Given the description of an element on the screen output the (x, y) to click on. 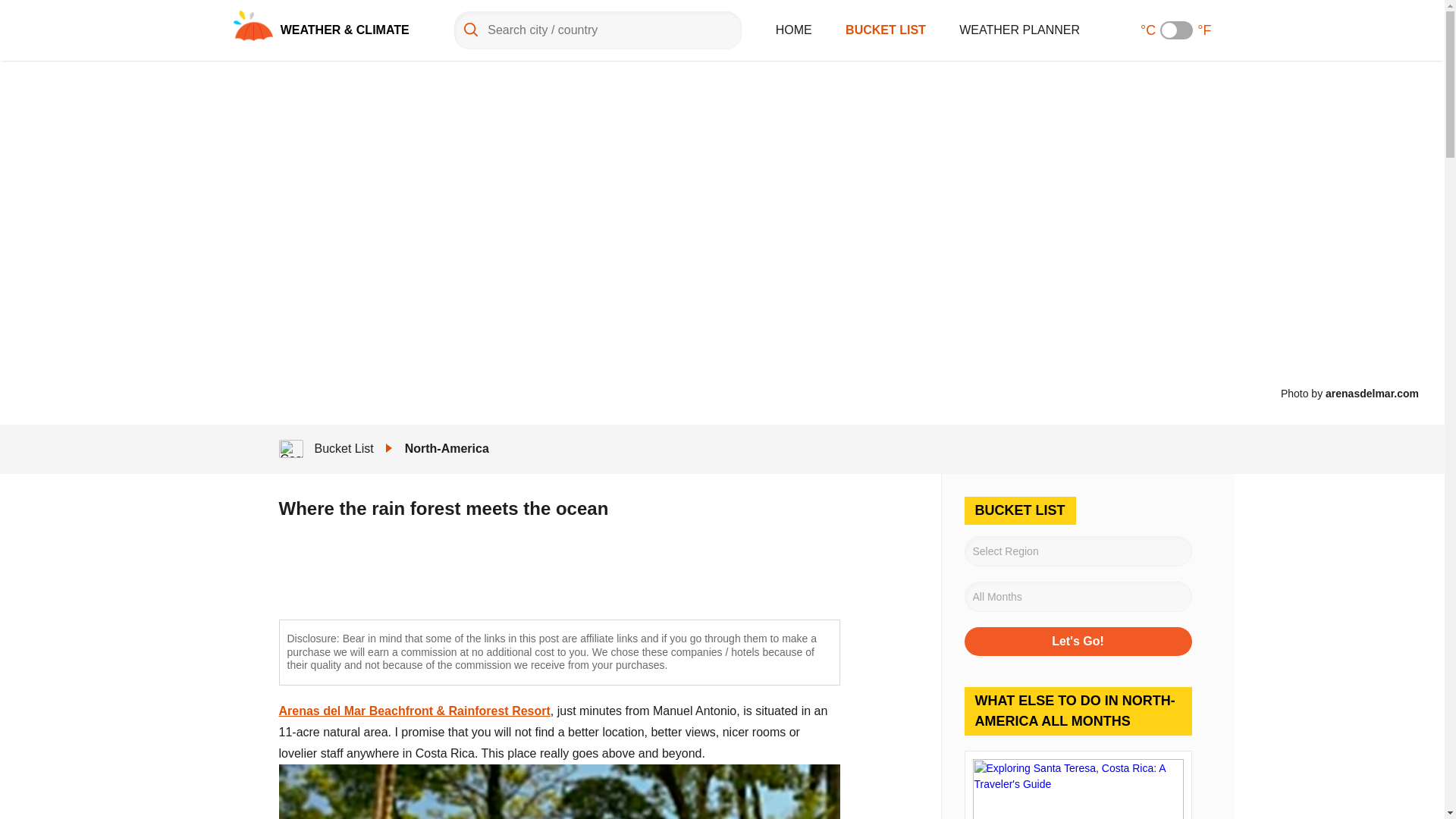
Let's Go! (1077, 641)
WEATHER PLANNER (1019, 30)
Exploring Santa Teresa, Costa Rica: A Traveler's Guide (1077, 785)
HOME (794, 30)
Weather and climate homepage (252, 25)
BUCKET LIST (885, 30)
Bucket List (343, 448)
Let's Go! (1077, 641)
North-America (446, 448)
